Given the description of an element on the screen output the (x, y) to click on. 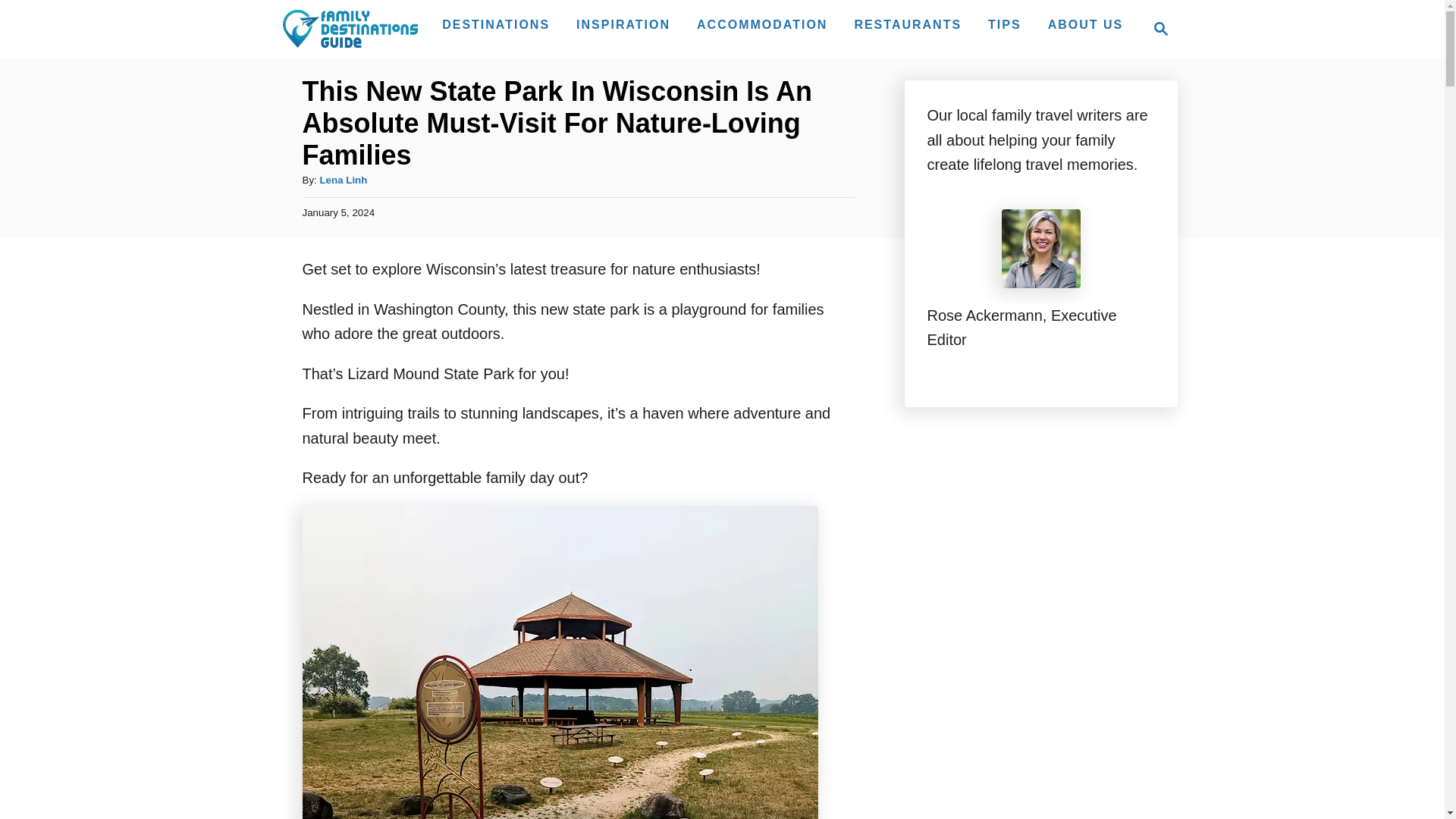
Magnifying Glass (1160, 28)
Lena Linh (342, 179)
RESTAURANTS (907, 24)
ABOUT US (1086, 24)
DESTINATIONS (495, 24)
TIPS (1004, 24)
ACCOMMODATION (761, 24)
Family Destinations Guide (349, 28)
INSPIRATION (1155, 28)
